Given the description of an element on the screen output the (x, y) to click on. 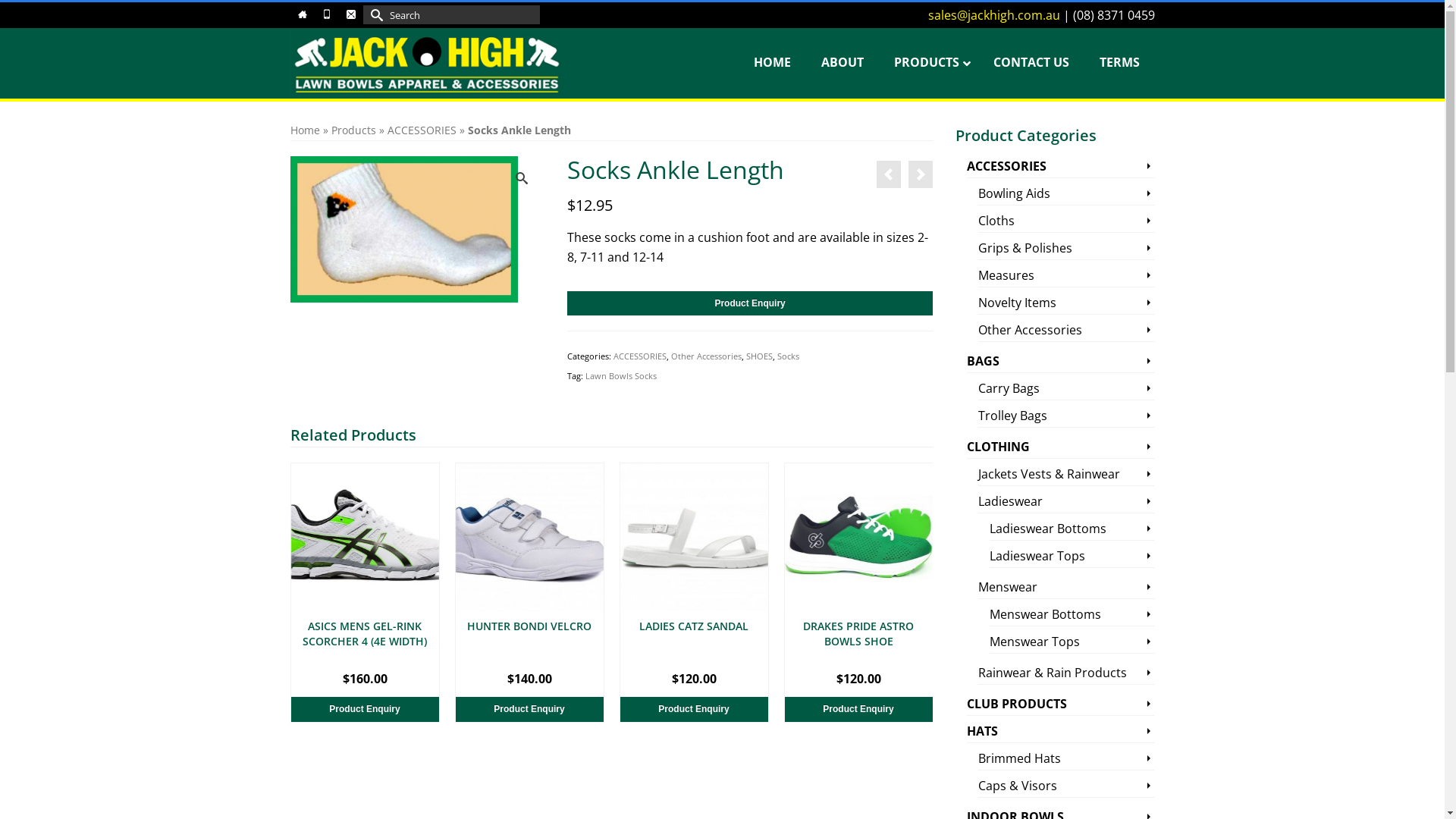
Measures Element type: text (1066, 275)
Brimmed Hats Element type: text (1066, 758)
Trolley Bags Element type: text (1066, 415)
Product Enquiry Element type: text (528, 708)
ACCESSORIES Element type: text (1060, 166)
CONTACT US Element type: text (1031, 62)
Product Enquiry Element type: text (694, 708)
Other Accessories Element type: text (706, 355)
Product Enquiry Element type: text (857, 708)
Socks Footlet Element type: hover (920, 174)
CLOTHING Element type: text (1060, 446)
Home Element type: text (304, 129)
Carry Bags Element type: text (1066, 388)
Rainwear & Rain Products Element type: text (1066, 672)
HOME Element type: text (772, 62)
Menswear Bottoms Element type: text (1071, 614)
Other Accessories Element type: text (1066, 330)
Menswear Tops Element type: text (1071, 641)
Jackets Vests & Rainwear Element type: text (1066, 474)
Socks Element type: text (788, 355)
HUNTER BONDI VELCRO Element type: text (694, 637)
TERMS Element type: text (1119, 62)
Novelty Items Element type: text (1066, 302)
Product Enquiry Element type: text (365, 708)
Ladieswear Tops Element type: text (1071, 555)
CLUB PRODUCTS Element type: text (1060, 703)
Cloths Element type: text (1066, 220)
ACCESSORIES Element type: text (420, 129)
Products Element type: text (352, 129)
Bowling Aids Element type: text (1066, 193)
Jack High Element type: hover (425, 63)
Lawn Bowls Socks Element type: text (620, 375)
Menswear Element type: text (1066, 587)
OOFOS OORIGINAL SPORT THONGS Element type: text (365, 637)
HATS Element type: text (1060, 731)
Grips & Polishes Element type: text (1066, 248)
Product Enquiry Element type: text (749, 303)
PRODUCTS Element type: text (927, 62)
Socks Crew Length Element type: hover (888, 174)
ASICS MENS GEL-RINK SCORCHER 4 (4E WIDTH) Element type: text (528, 637)
Ladieswear Element type: text (1066, 501)
ABOUT Element type: text (841, 62)
Caps & Visors Element type: text (1066, 785)
LADIES CATZ SANDAL Element type: text (857, 637)
SHOES Element type: text (759, 355)
Ladieswear Bottoms Element type: text (1071, 528)
ACCESSORIES Element type: text (639, 355)
BAGS Element type: text (1060, 361)
